Given the description of an element on the screen output the (x, y) to click on. 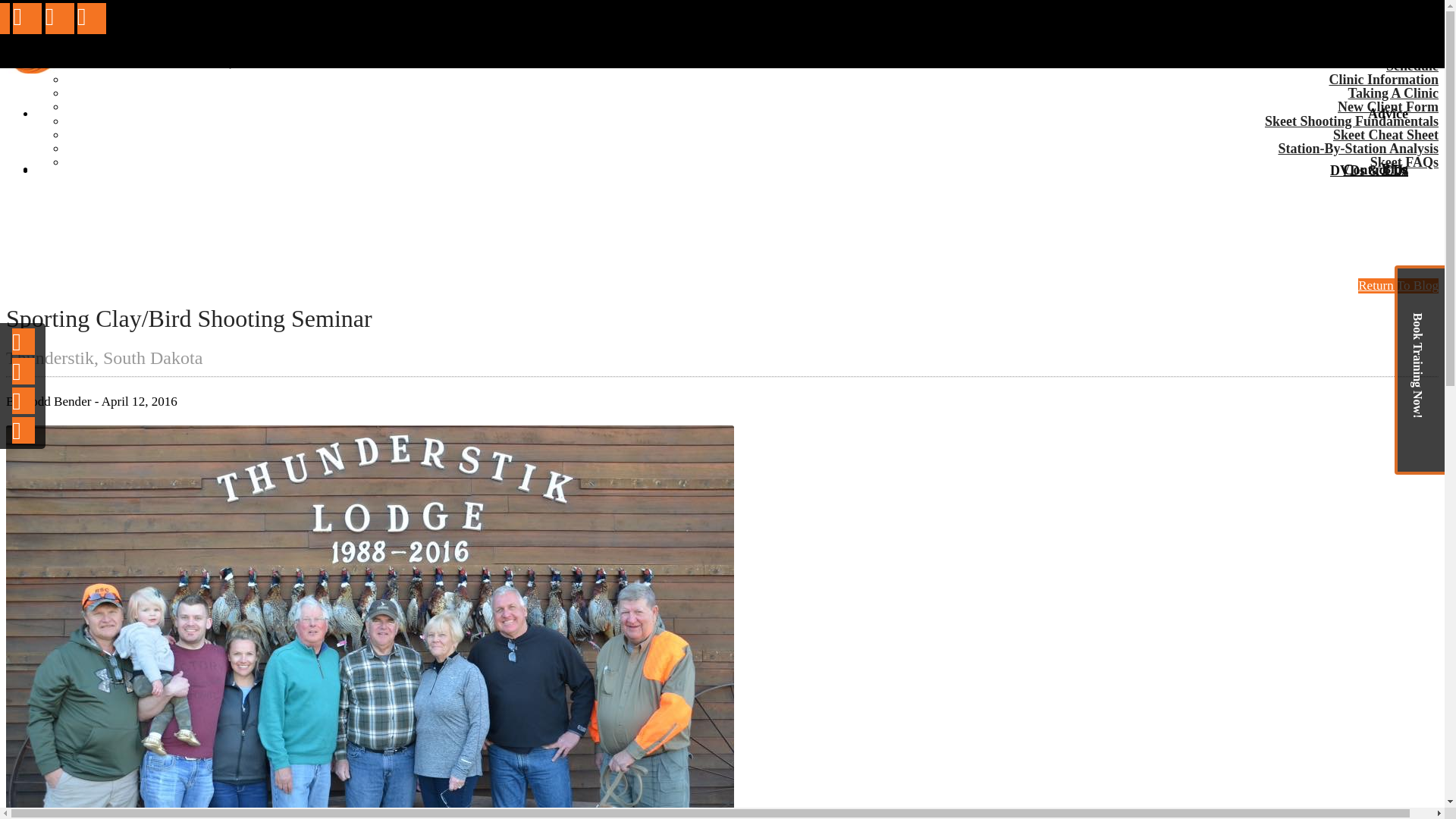
Contact Us (1383, 169)
Blog (1402, 168)
Todd Bender (1377, 1)
Advice (1395, 113)
Return To Blog (1398, 285)
Toggle navigation (286, 13)
Training (1390, 31)
